Given the description of an element on the screen output the (x, y) to click on. 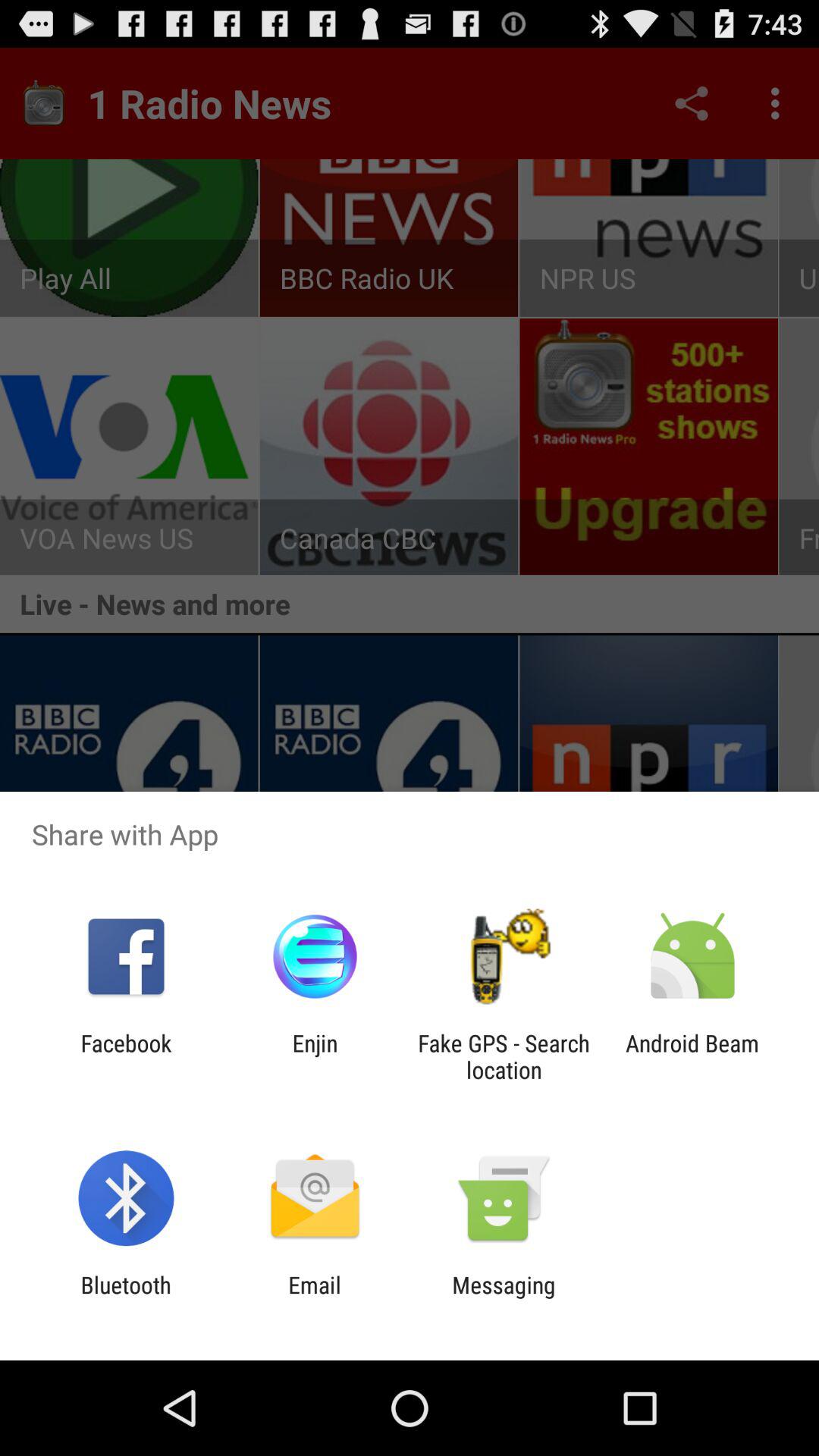
tap item next to bluetooth (314, 1298)
